Given the description of an element on the screen output the (x, y) to click on. 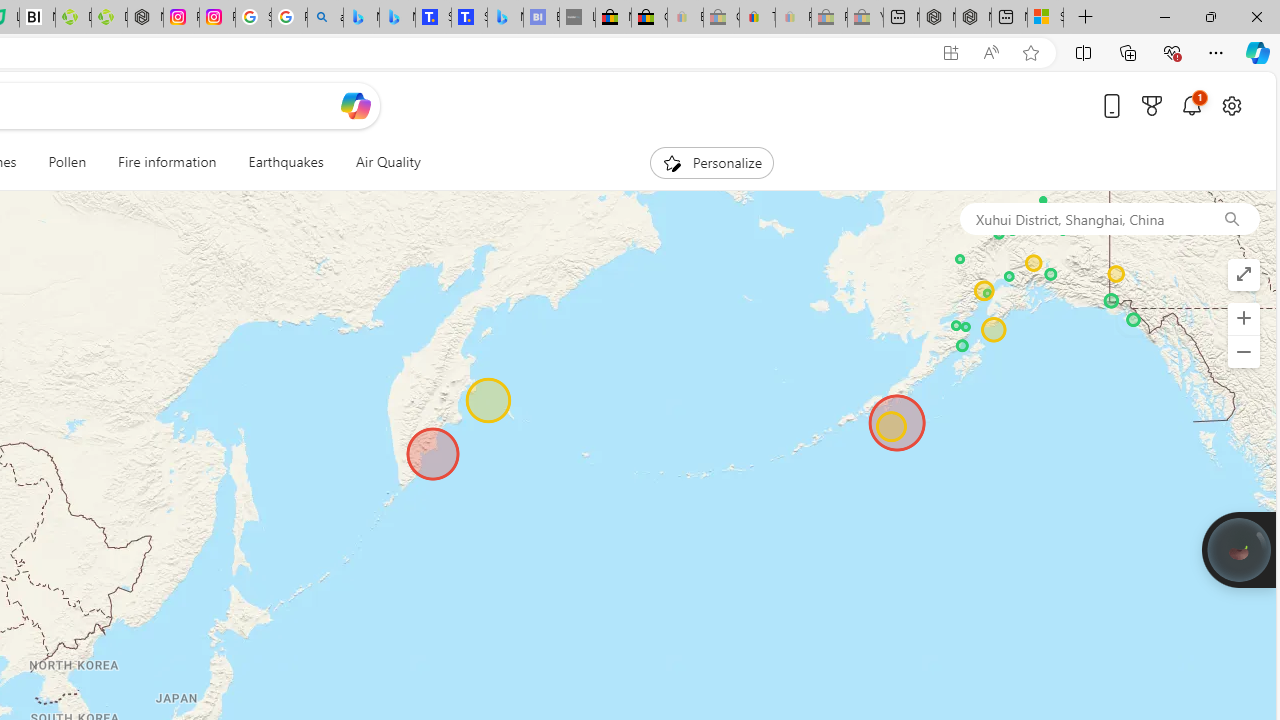
Yard, Garden & Outdoor Living - Sleeping (865, 17)
Join us in planting real trees to help our planet! (1239, 548)
Shangri-La Bangkok, Hotel reviews and Room rates (469, 17)
Payments Terms of Use | eBay.com - Sleeping (793, 17)
Earthquakes (285, 162)
Earthquakes (285, 162)
Pollen (67, 162)
Sign in to your Microsoft account (1045, 17)
